Given the description of an element on the screen output the (x, y) to click on. 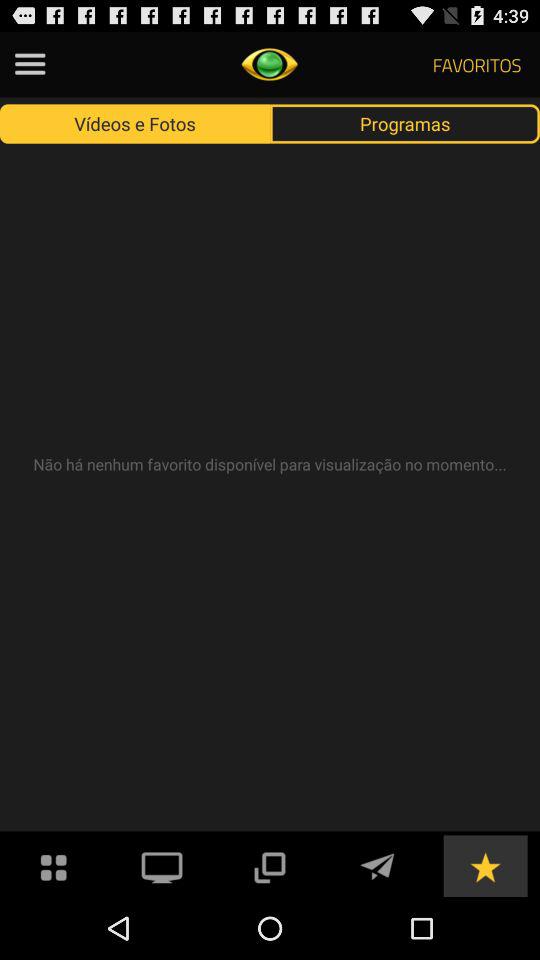
launch the item to the left of programas icon (135, 123)
